Given the description of an element on the screen output the (x, y) to click on. 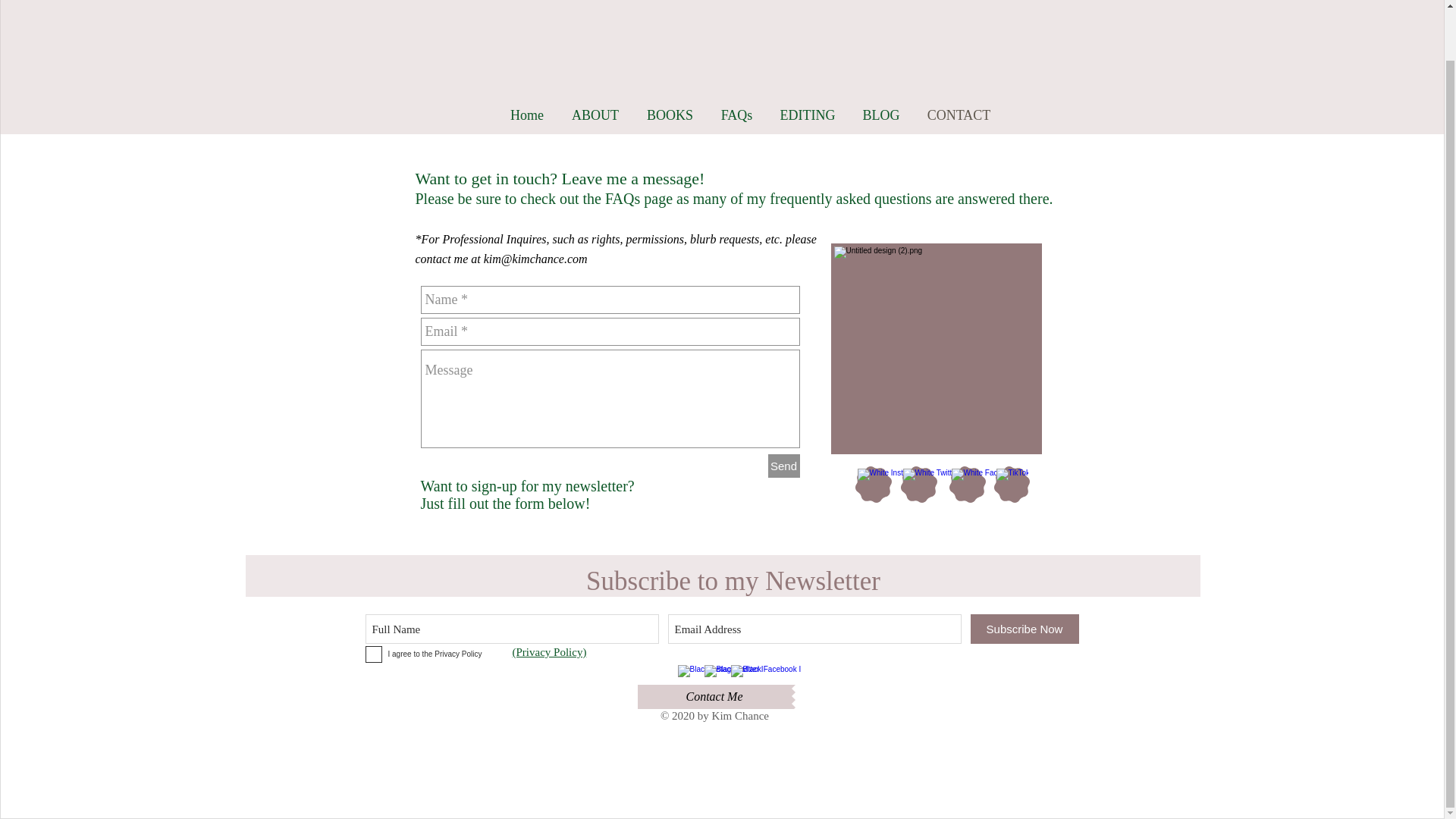
ABOUT (595, 115)
CONTACT (958, 115)
BLOG (881, 115)
Send (783, 465)
Contact Me (713, 696)
FAQs (735, 115)
Subscribe Now (1024, 628)
EDITING (806, 115)
Home (526, 115)
BOOKS (668, 115)
